Given the description of an element on the screen output the (x, y) to click on. 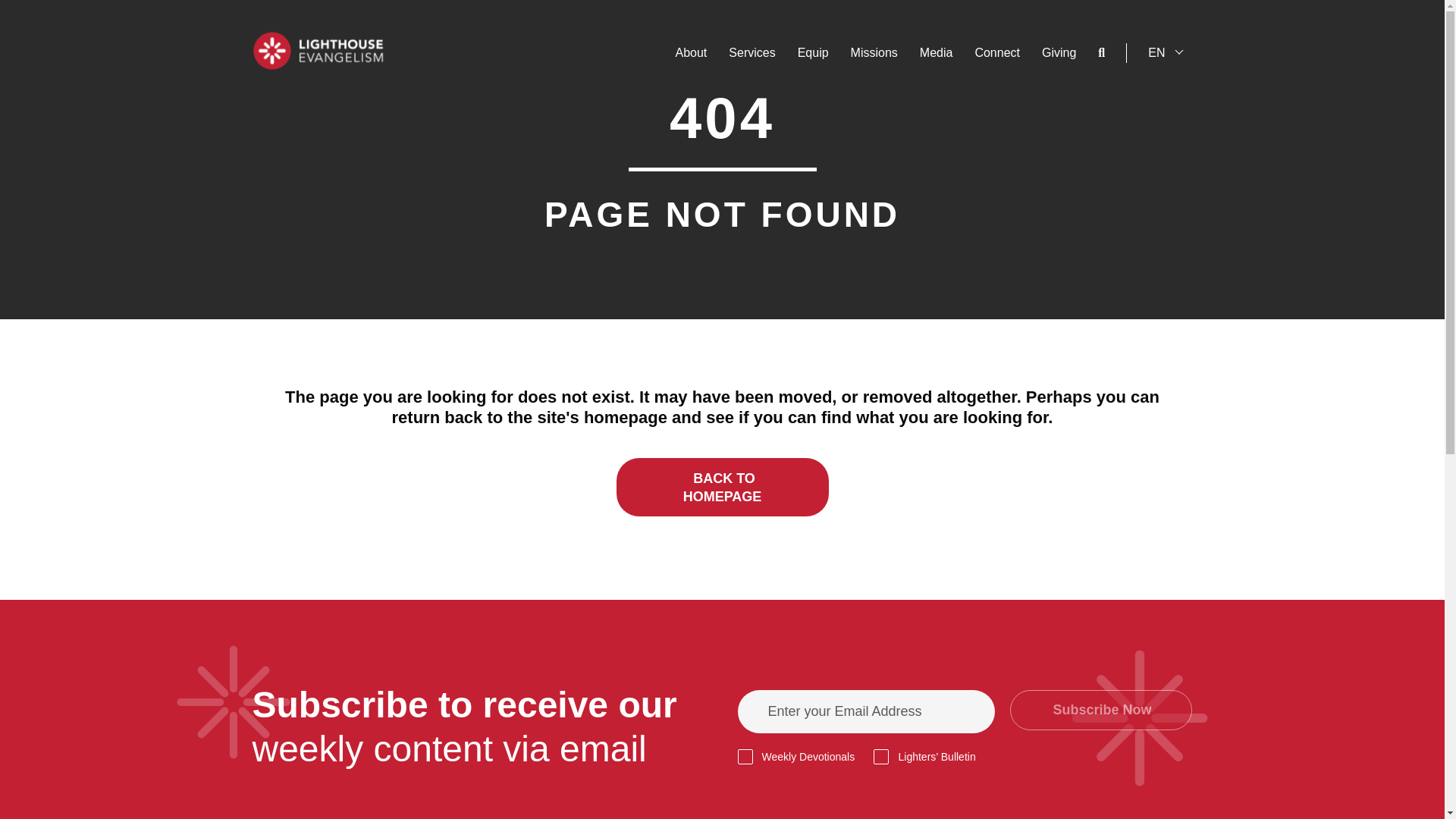
1 (744, 756)
About (690, 53)
Media (936, 53)
Logo (317, 50)
Services (751, 53)
Missions (874, 53)
Connect (997, 53)
Subscribe Now (1101, 710)
1 (880, 756)
Equip (812, 53)
